Given the description of an element on the screen output the (x, y) to click on. 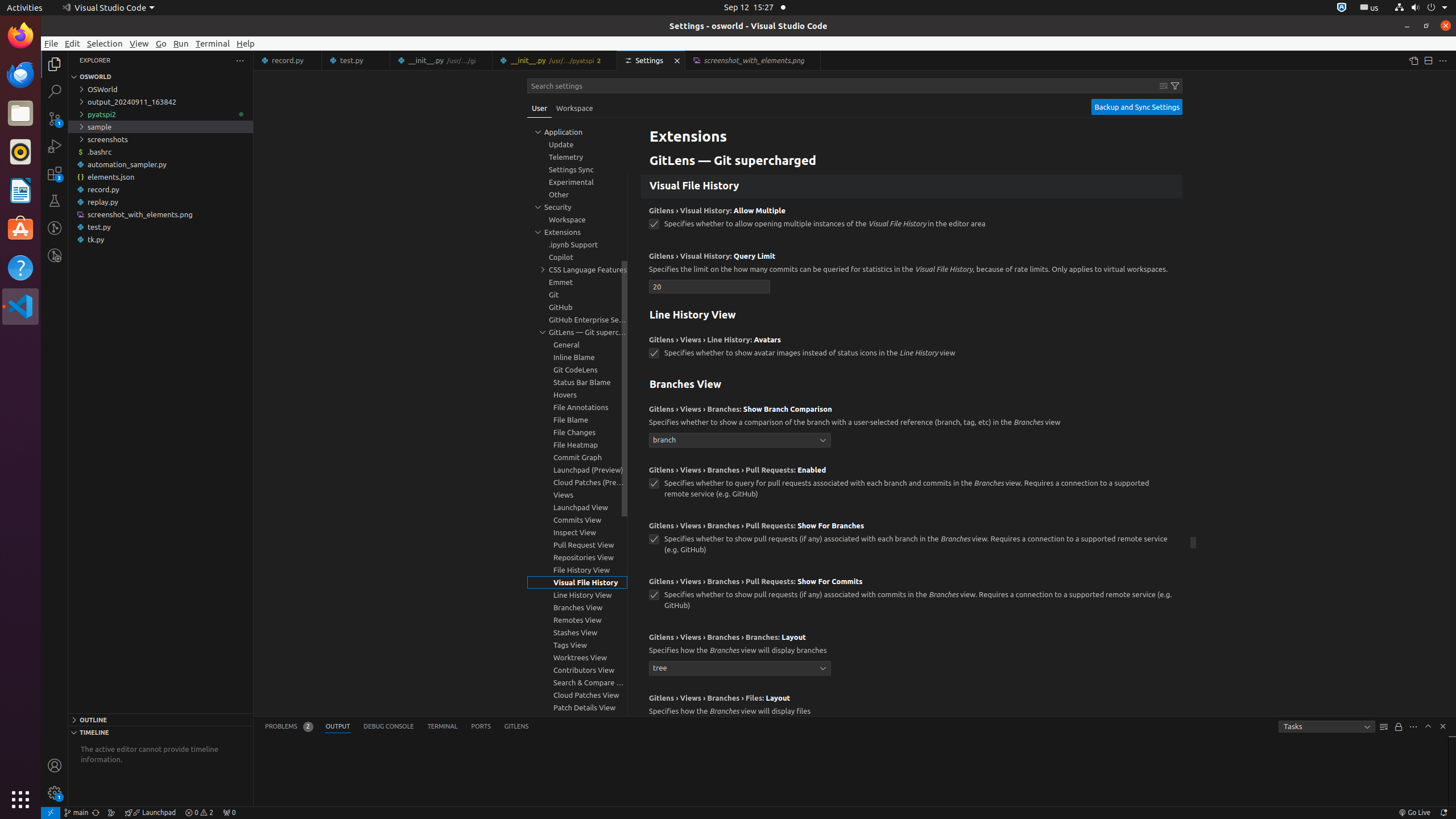
File Element type: push-button (50, 43)
screenshot_with_elements.png, preview Element type: page-tab (753, 60)
GitHub Enterprise Server Authentication Provider, group Element type: tree-item (577, 319)
Gitlens › Visual History Query Limit. Specifies the limit on the how many commits can be queried for statistics in the Visual File History, because of rate limits. Only applies to virtual workspaces.  Element type: tree-item (911, 273)
Search (Ctrl+Shift+F) Element type: page-tab (54, 91)
